Given the description of an element on the screen output the (x, y) to click on. 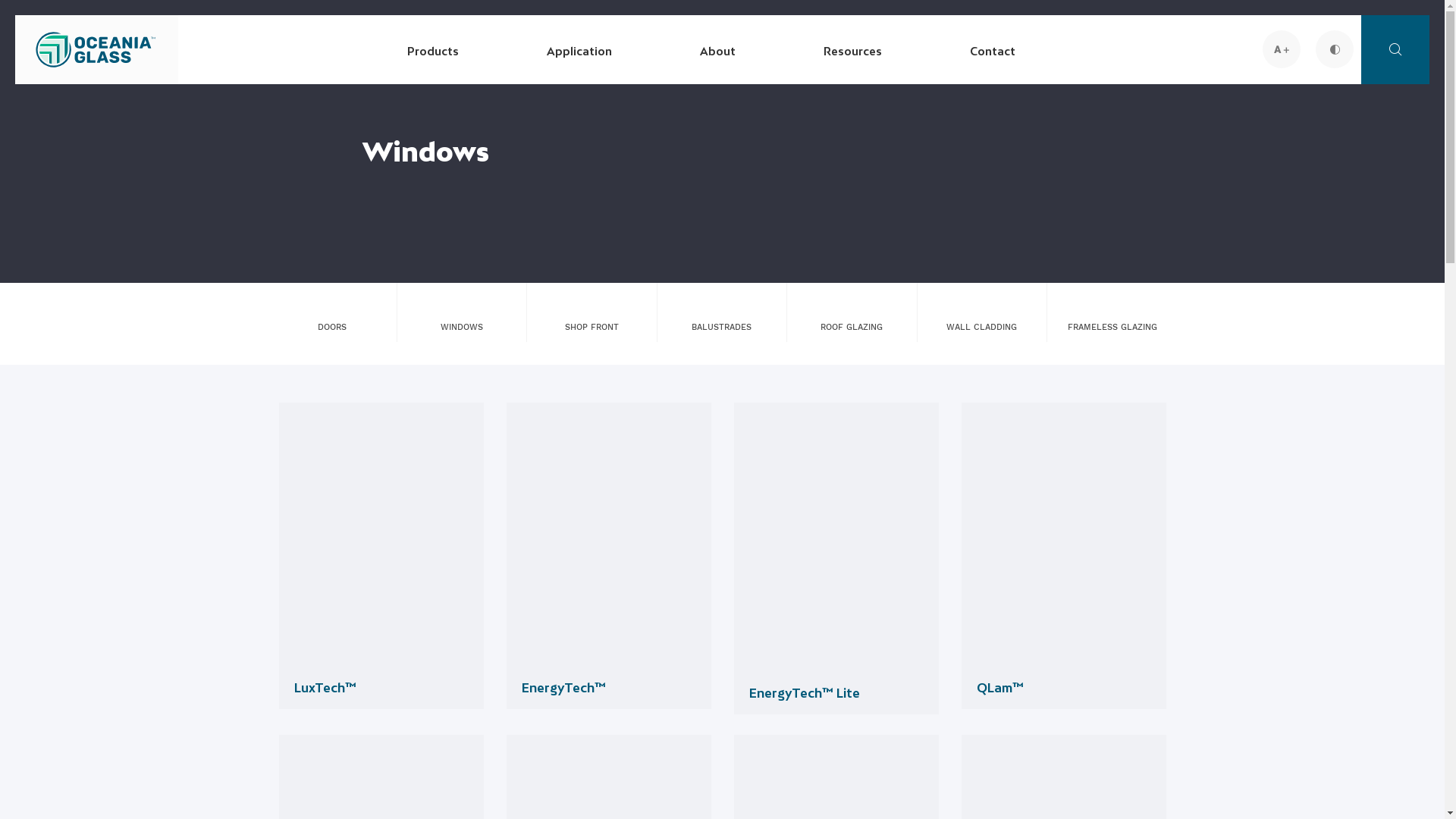
Contact Element type: text (991, 49)
Products Element type: text (432, 49)
About Element type: text (716, 49)
Application Element type: text (578, 49)
Resources Element type: text (852, 49)
